Given the description of an element on the screen output the (x, y) to click on. 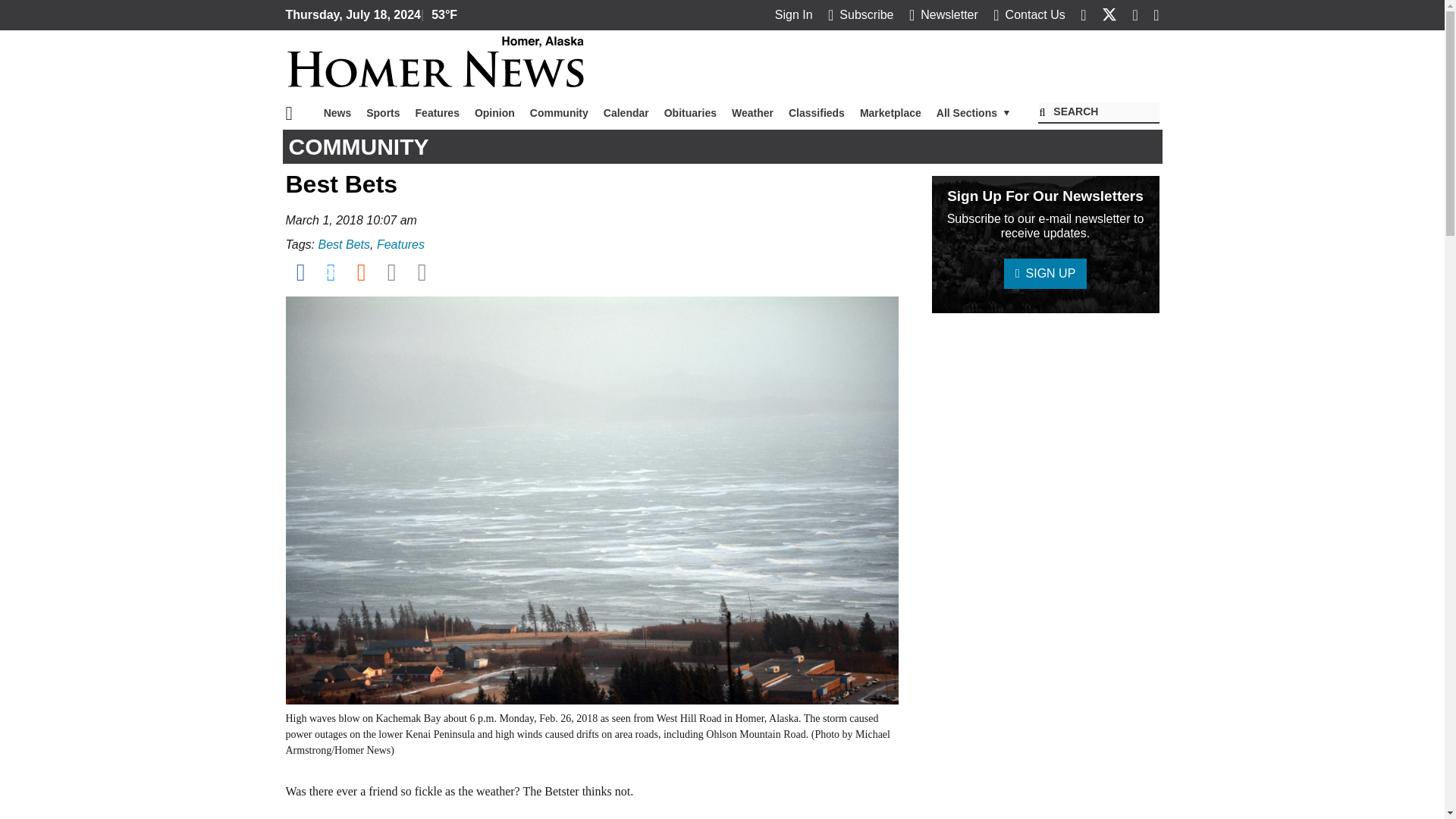
Opinion (494, 112)
Newsletter (943, 14)
Obituaries (689, 112)
Subscribe (860, 14)
Search (1097, 112)
Print story (421, 272)
Post to Reddit (360, 272)
Weather (751, 112)
Current weather and forecast (440, 14)
Features (437, 112)
Find Us On Twitter (1109, 14)
Email story (390, 272)
Community (558, 112)
Marketplace (889, 112)
Classifieds (815, 112)
